Given the description of an element on the screen output the (x, y) to click on. 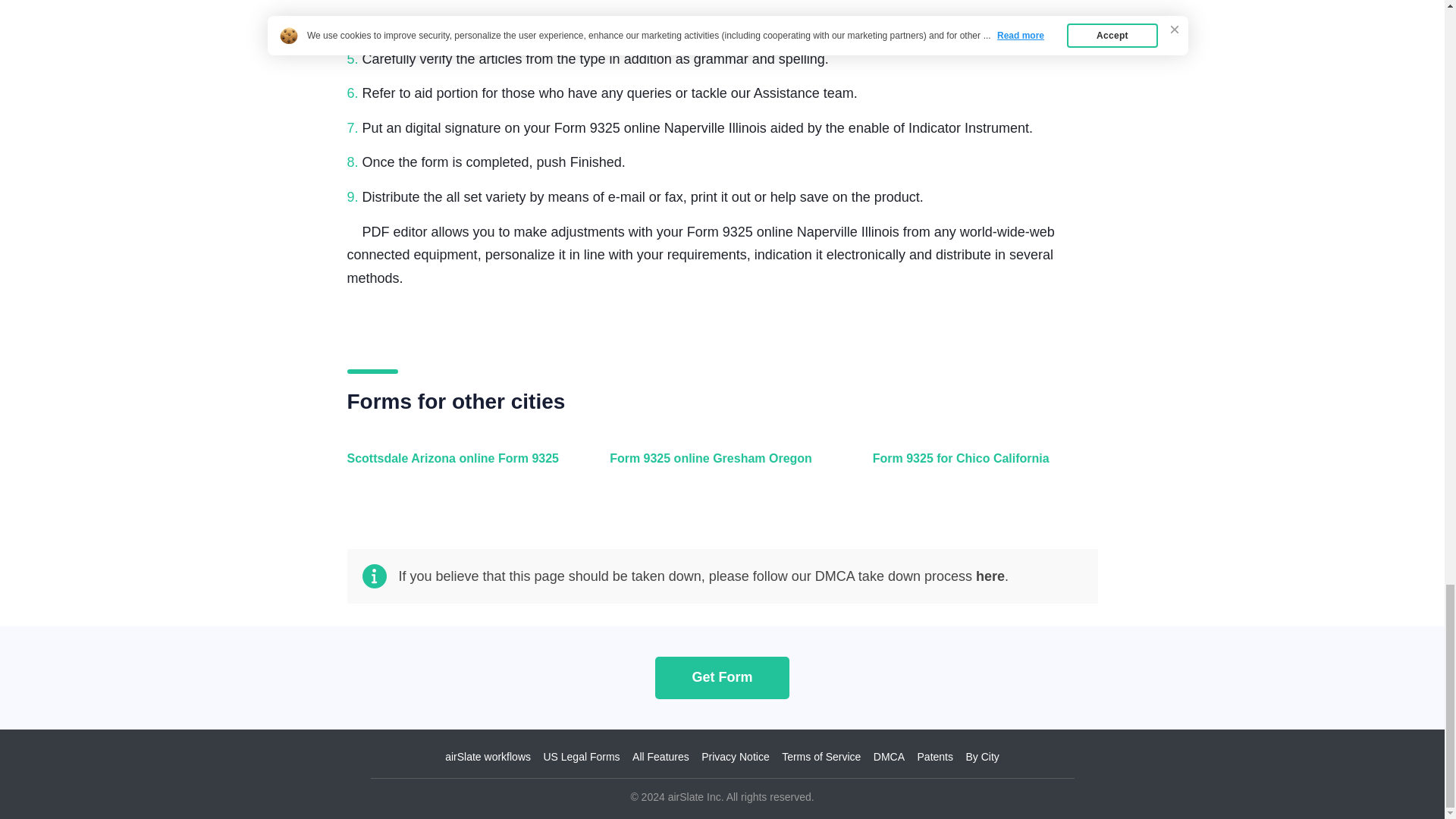
US Legal Forms (581, 756)
All Features (659, 756)
DMCA (888, 756)
Form 9325 for Chico California (981, 466)
By City (981, 756)
Form 9325 online Gresham Oregon (718, 466)
Get Form (722, 676)
here (989, 575)
Terms of Service (820, 756)
Patents (935, 756)
